Given the description of an element on the screen output the (x, y) to click on. 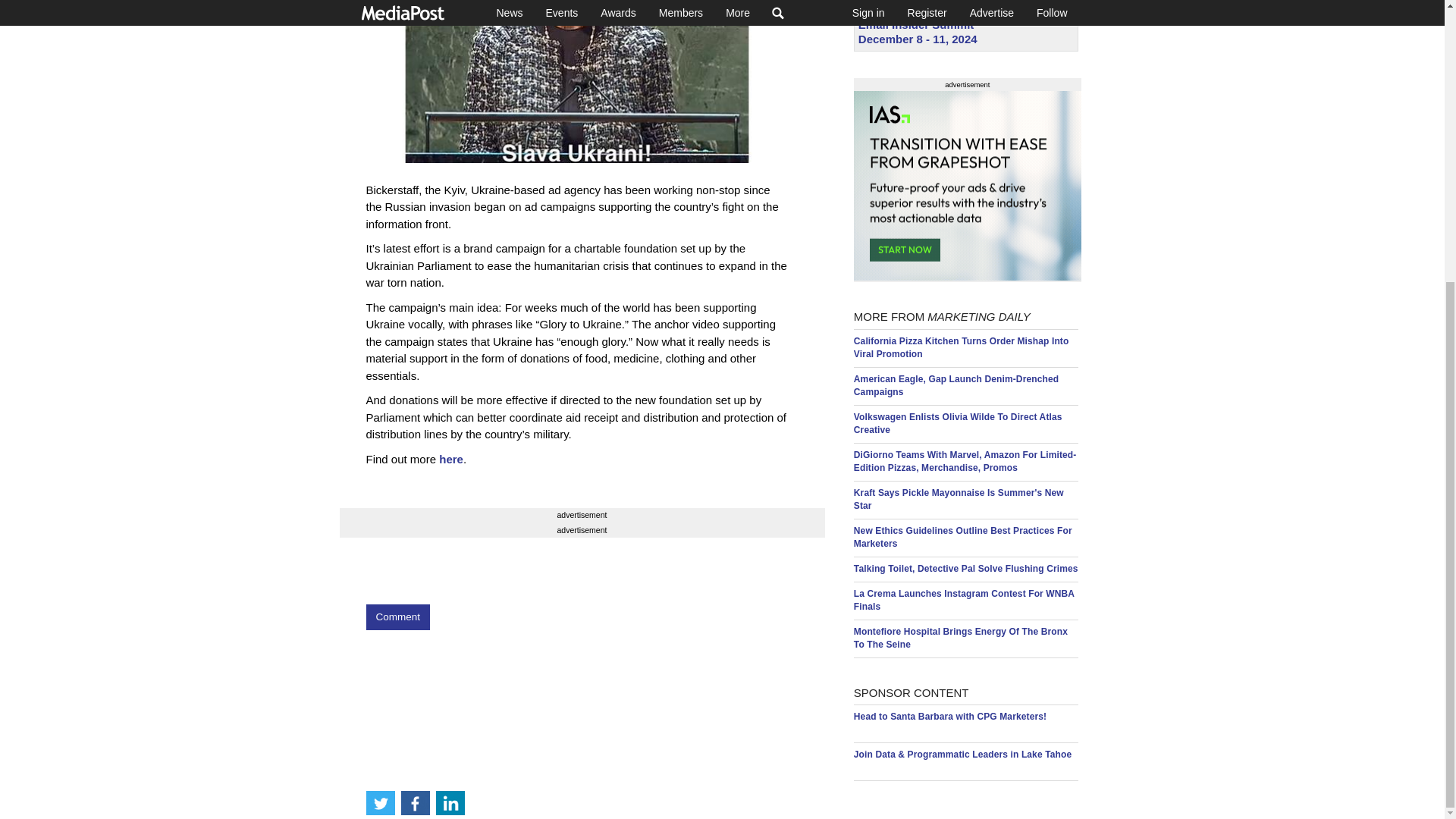
Share on Twitter (379, 381)
Share on Facebook (414, 381)
Share on LinkedIn (449, 381)
